Given the description of an element on the screen output the (x, y) to click on. 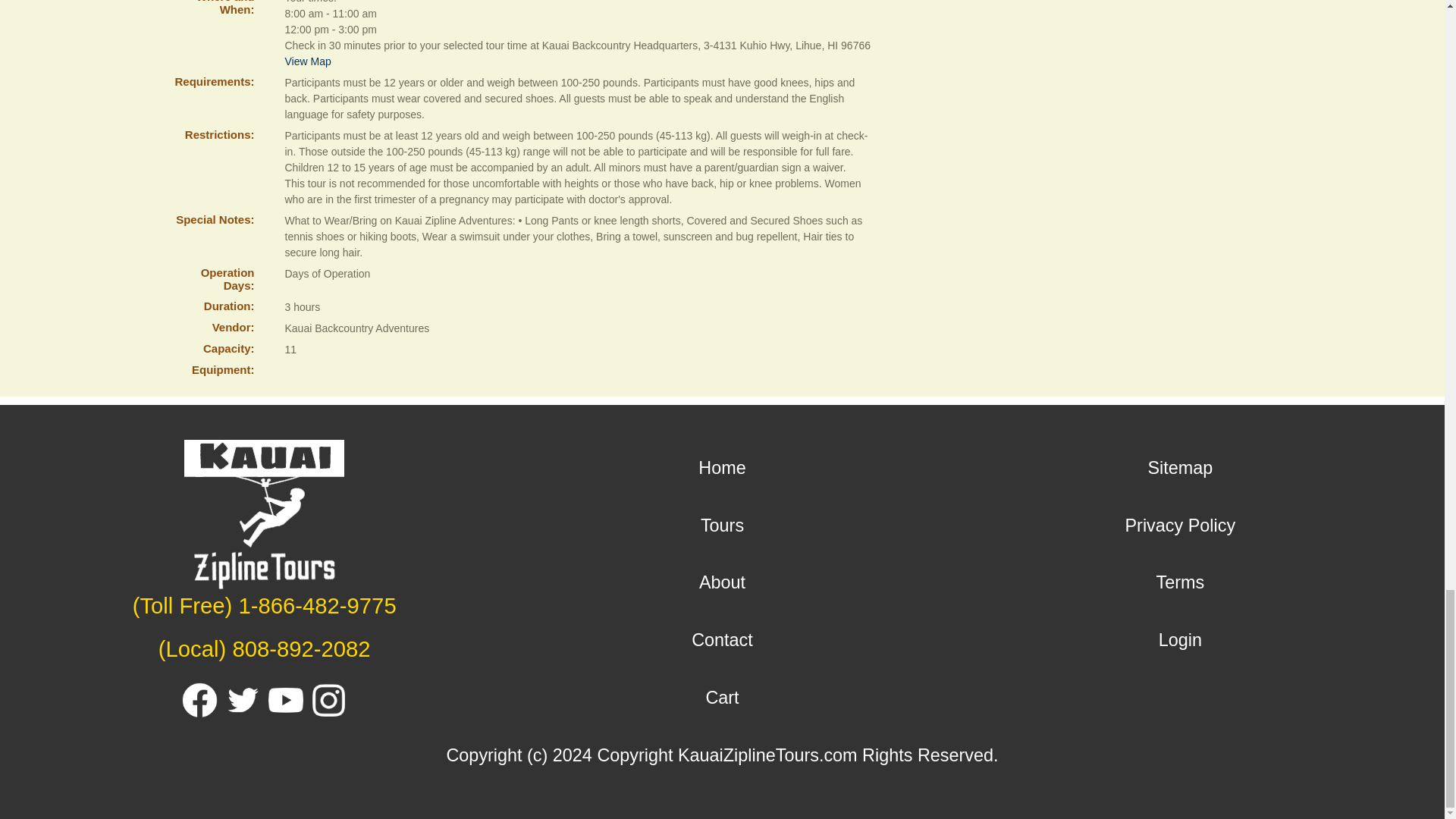
Home (721, 467)
Sitemap (1179, 467)
Terms (1180, 582)
About (721, 582)
Tours (722, 525)
Cart (721, 697)
Privacy Policy (1180, 525)
Contact (721, 639)
Login (1180, 639)
View Map (308, 61)
